Given the description of an element on the screen output the (x, y) to click on. 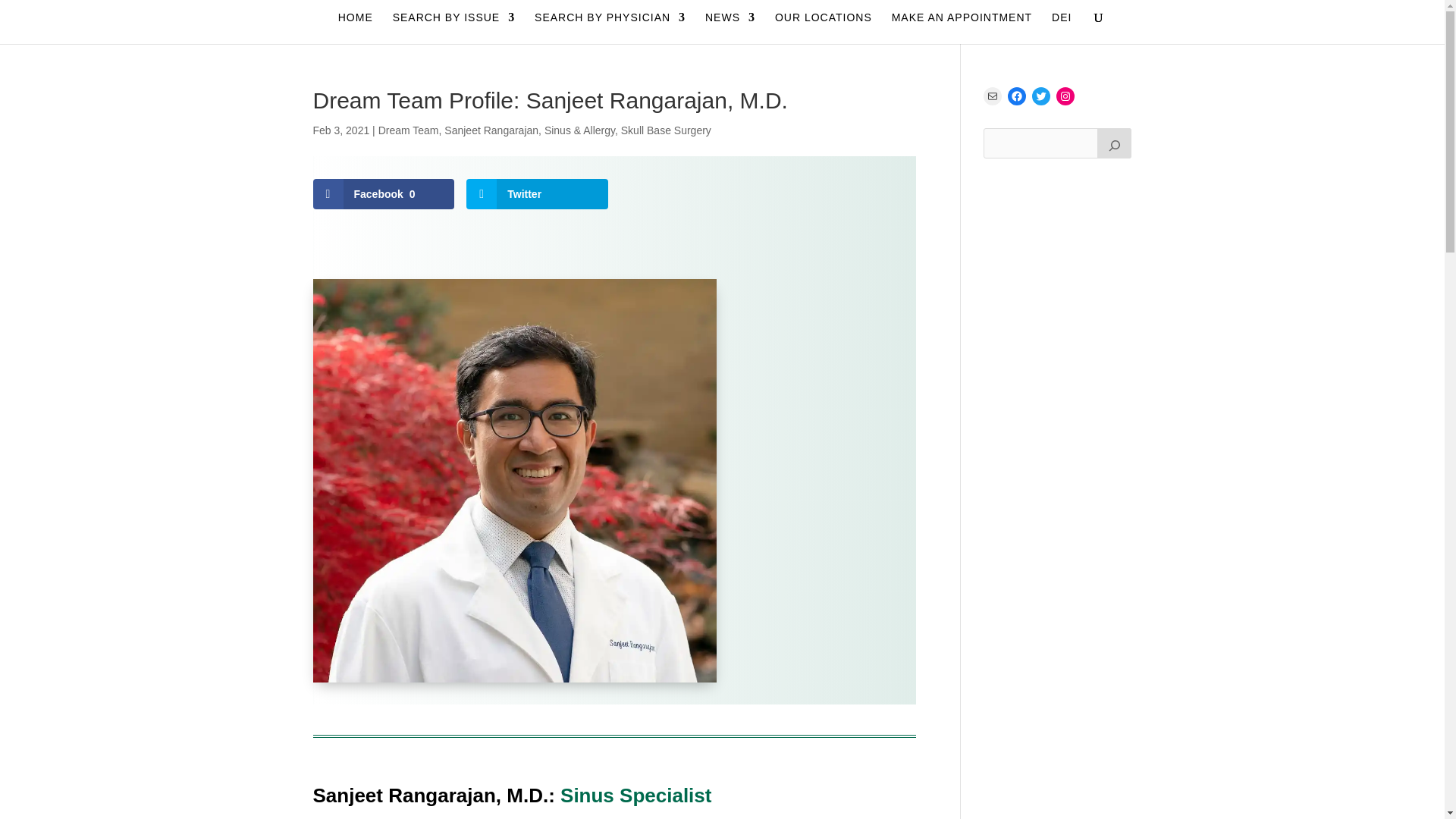
SEARCH BY ISSUE (454, 28)
NEWS (729, 28)
HOME (354, 28)
SEARCH BY PHYSICIAN (609, 28)
OUR LOCATIONS (823, 28)
MAKE AN APPOINTMENT (961, 28)
